Given the description of an element on the screen output the (x, y) to click on. 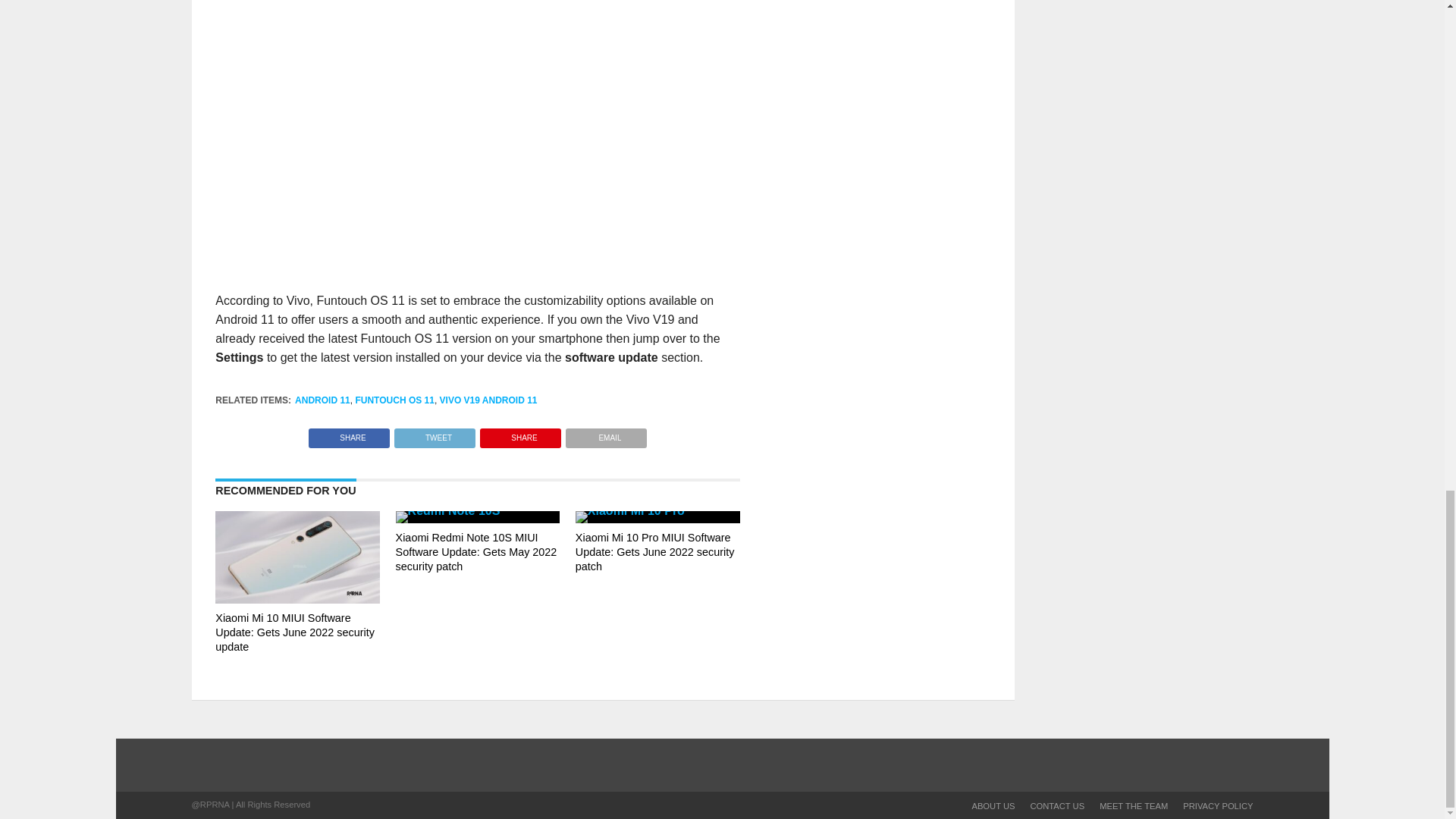
Tweet This Post (434, 433)
VIVO V19 ANDROID 11 (488, 399)
Pin This Post (520, 433)
FUNTOUCH OS 11 (394, 399)
Share on Facebook (349, 433)
ANDROID 11 (322, 399)
